Given the description of an element on the screen output the (x, y) to click on. 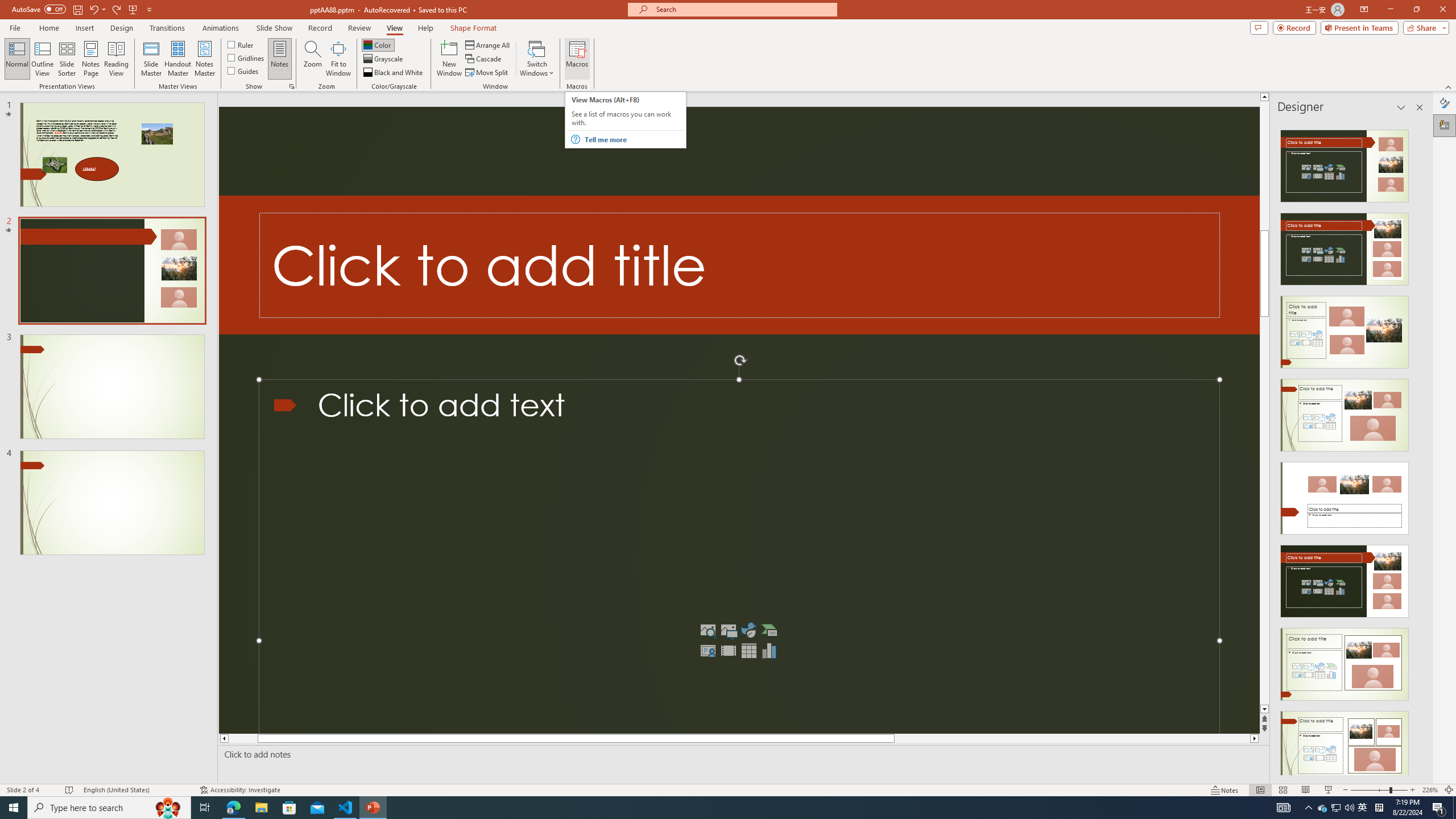
Insert Video (728, 650)
Fit to Window (338, 58)
Format Background (1444, 102)
Gridlines (246, 56)
Insert an Icon (748, 629)
